Given the description of an element on the screen output the (x, y) to click on. 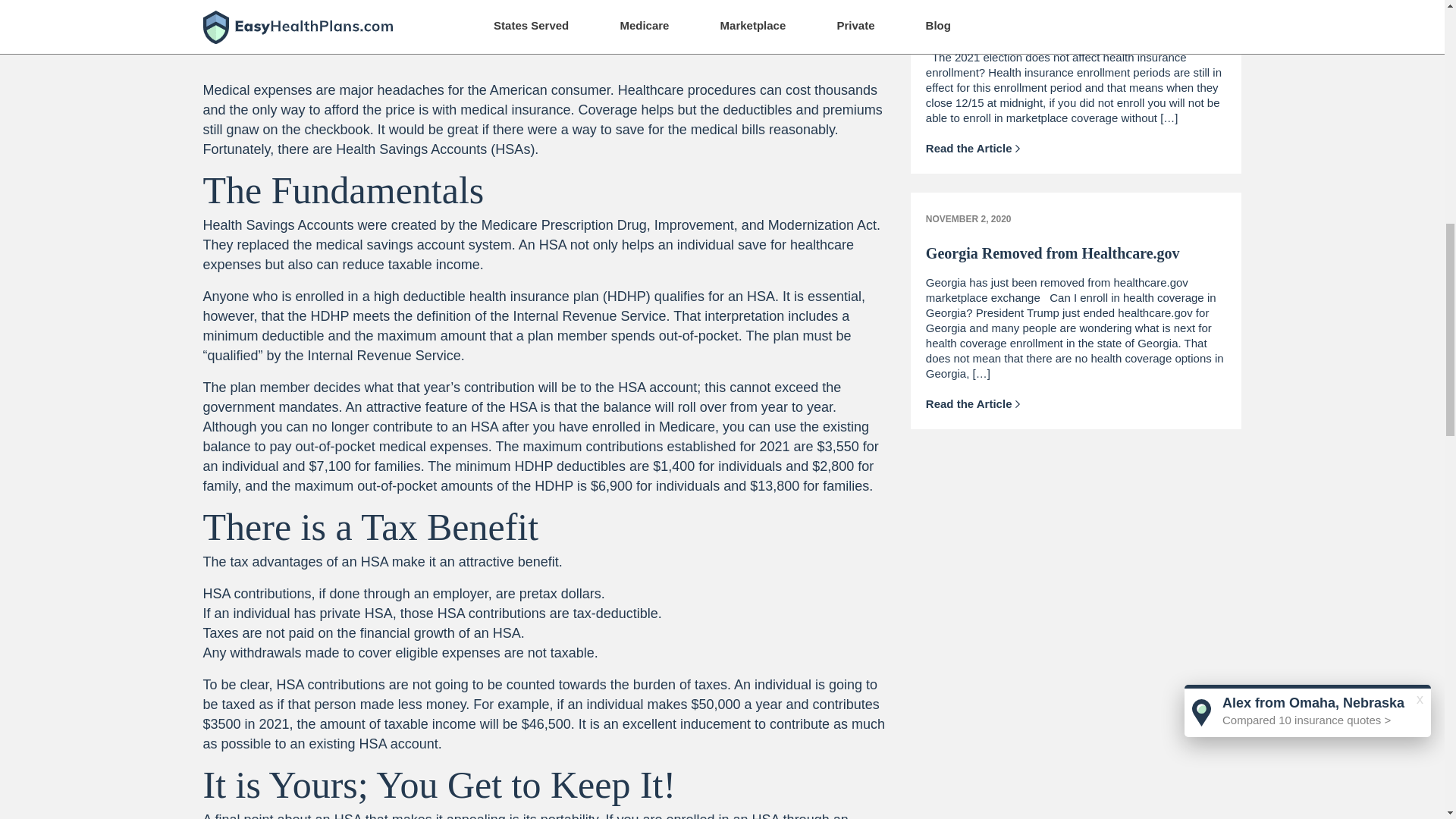
Read the Article (973, 147)
Read the Article (973, 403)
